Given the description of an element on the screen output the (x, y) to click on. 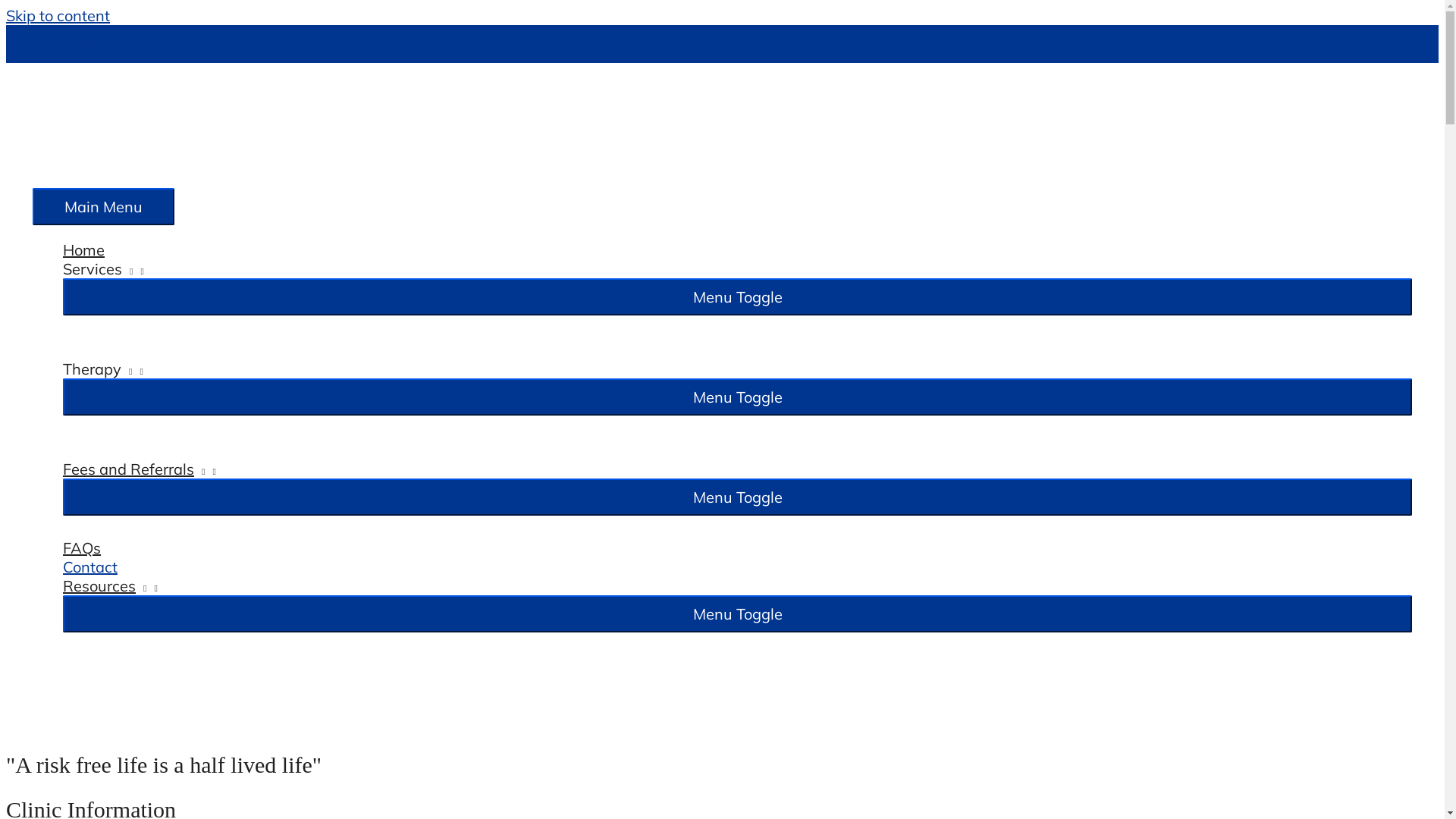
Resources Element type: text (737, 585)
Services Element type: text (737, 268)
FAQs Element type: text (737, 547)
Menu Toggle Element type: text (737, 296)
Contact Element type: text (737, 566)
Menu Toggle Element type: text (737, 613)
Therapy Element type: text (737, 368)
Fees and Referrals Element type: text (737, 468)
Menu Toggle Element type: text (737, 396)
0423 380 037 Element type: text (81, 43)
Skip to content Element type: text (57, 15)
Home Element type: text (737, 249)
Main Menu Element type: text (103, 206)
Menu Toggle Element type: text (737, 496)
